Given the description of an element on the screen output the (x, y) to click on. 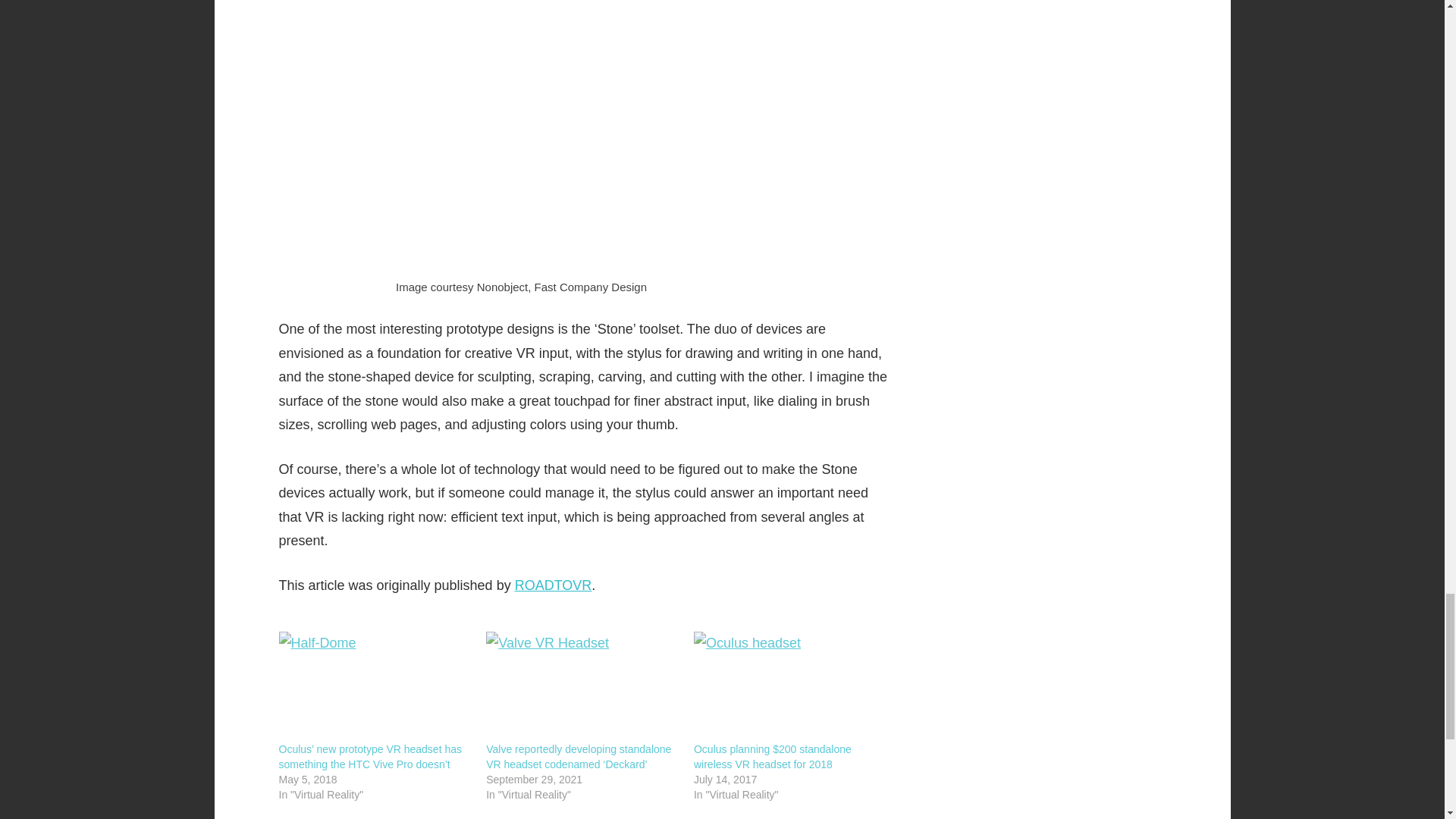
ROADTOVR (553, 585)
